Given the description of an element on the screen output the (x, y) to click on. 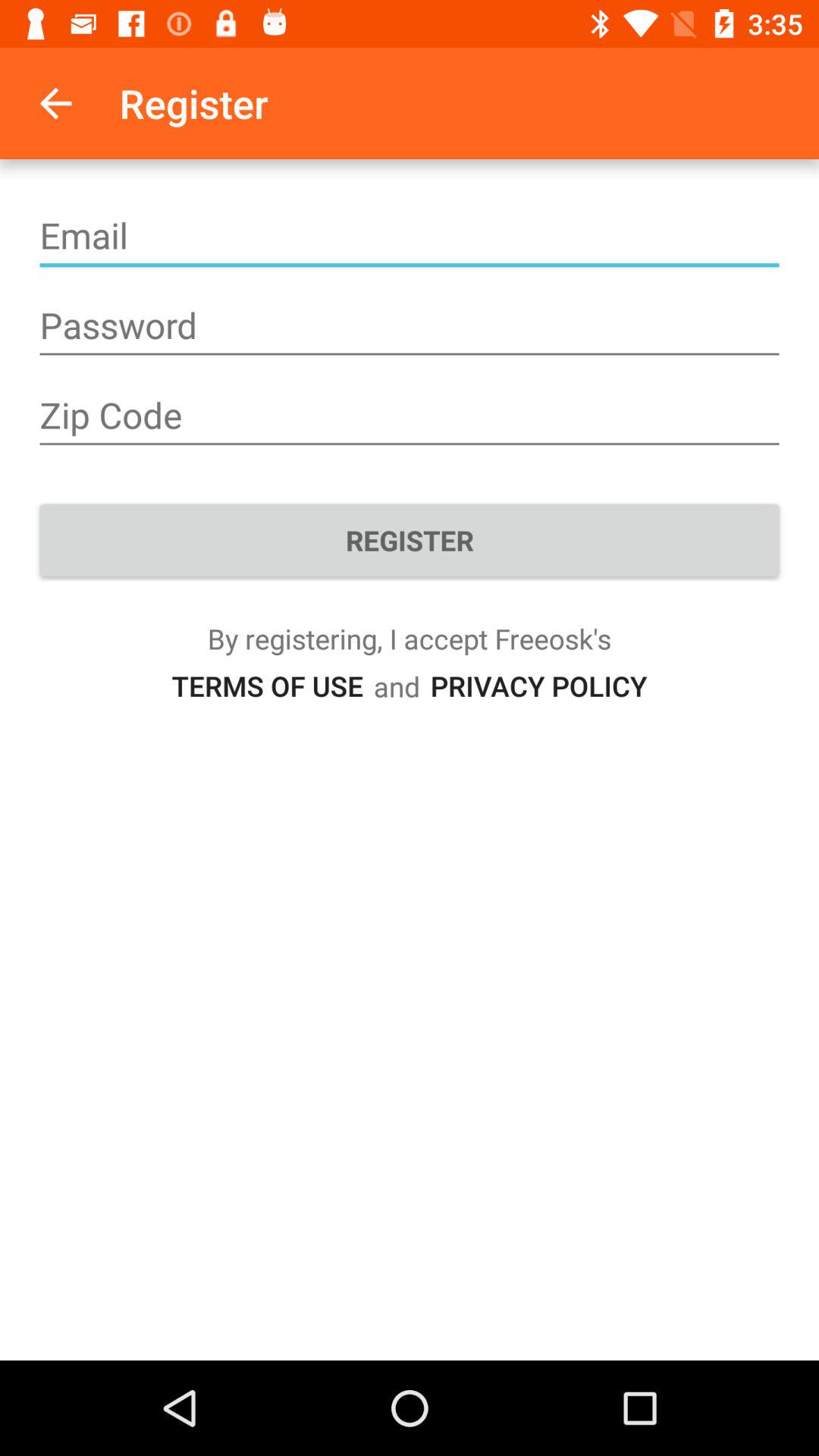
turn on the icon to the left of register app (55, 103)
